Given the description of an element on the screen output the (x, y) to click on. 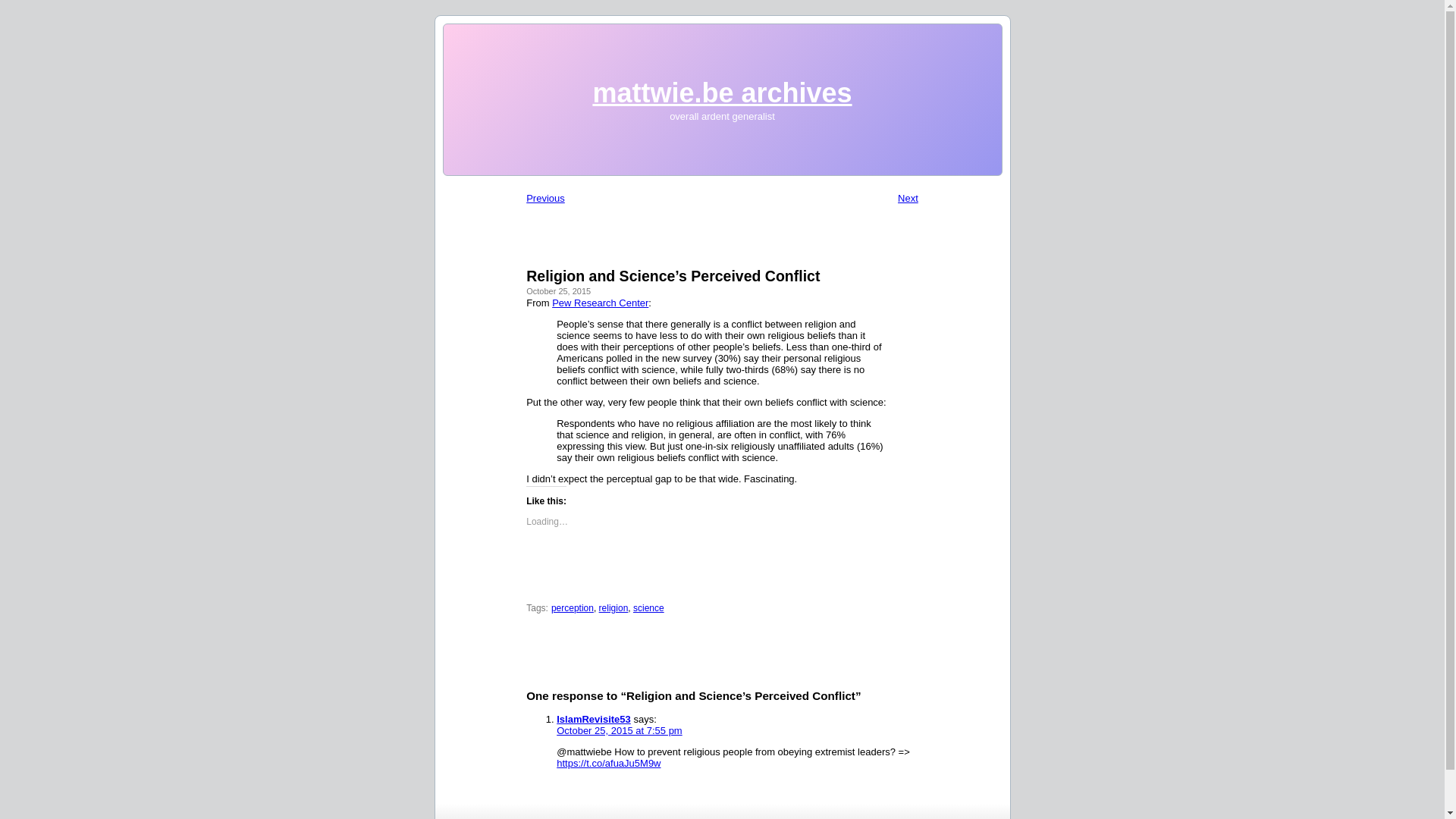
Like or Reblog (721, 577)
religion (613, 607)
Pew Research Center (599, 302)
Next (908, 197)
Previous (544, 197)
perception (572, 607)
mattwie.be archives (721, 92)
science (648, 607)
IslamRevisite53 (593, 718)
October 25, 2015 at 7:55 pm (619, 730)
